Given the description of an element on the screen output the (x, y) to click on. 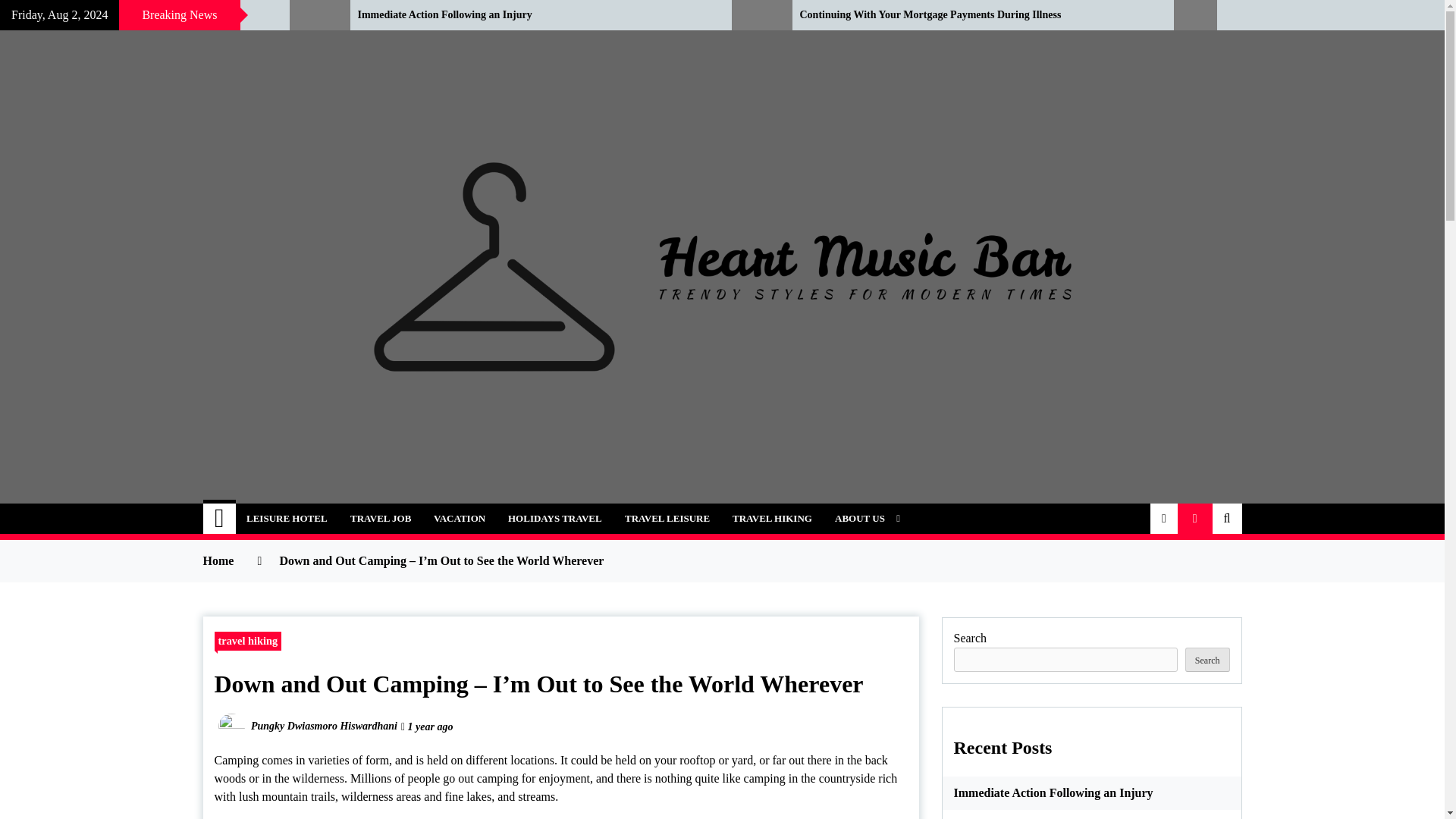
Continuing With Your Mortgage Payments During Illness (974, 15)
Immediate Action Following an Injury (533, 15)
Home (219, 518)
